Given the description of an element on the screen output the (x, y) to click on. 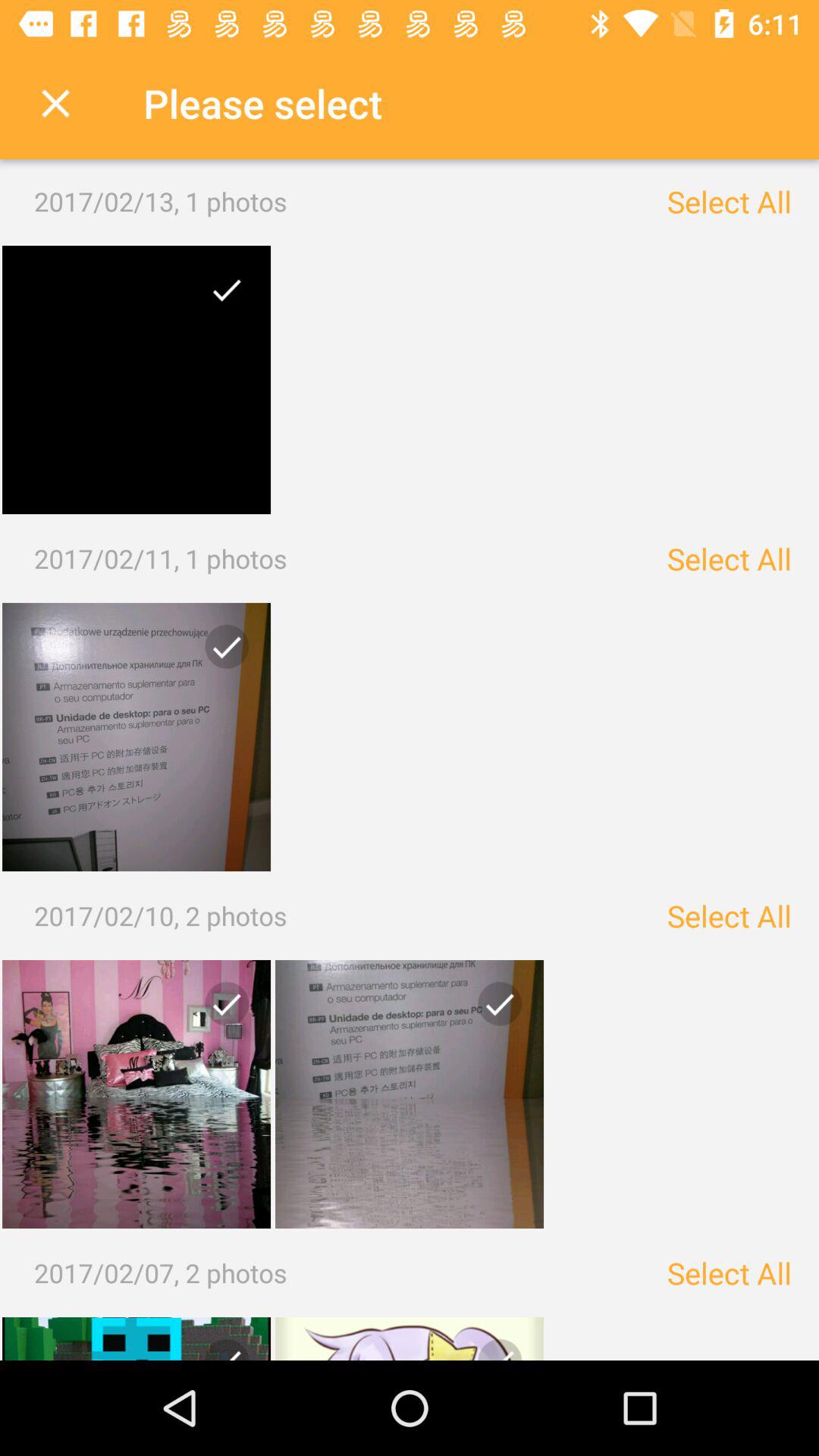
it is a selected item (136, 379)
